Given the description of an element on the screen output the (x, y) to click on. 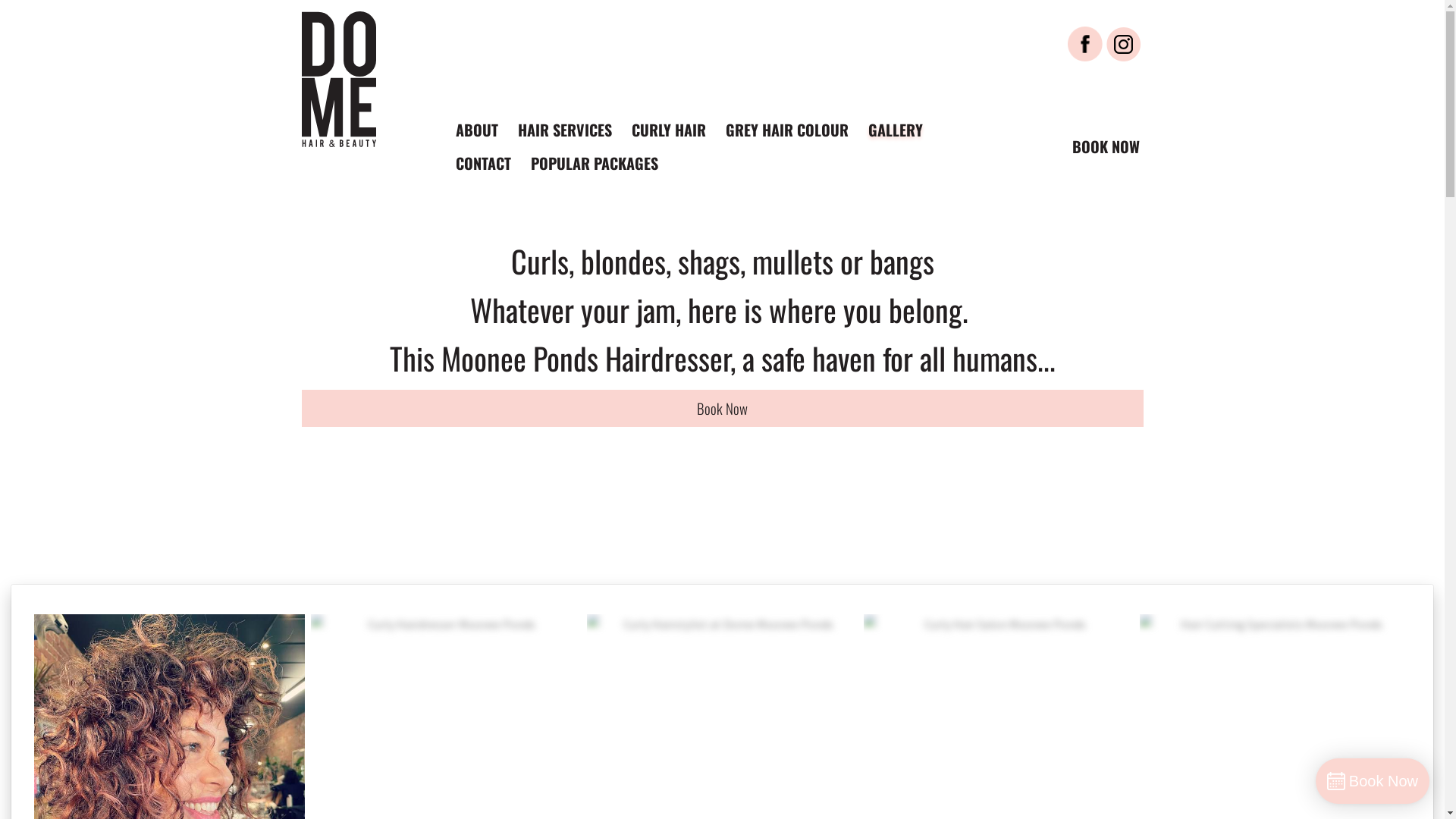
CONTACT Element type: text (482, 162)
POPULAR PACKAGES Element type: text (593, 162)
HAIR SERVICES Element type: text (564, 129)
BOOK NOW Element type: text (1101, 146)
GREY HAIR COLOUR Element type: text (786, 129)
GALLERY Element type: text (895, 129)
Book Now Element type: text (1372, 780)
ABOUT Element type: text (476, 129)
Book Now Element type: text (722, 407)
CURLY HAIR Element type: text (668, 129)
